Given the description of an element on the screen output the (x, y) to click on. 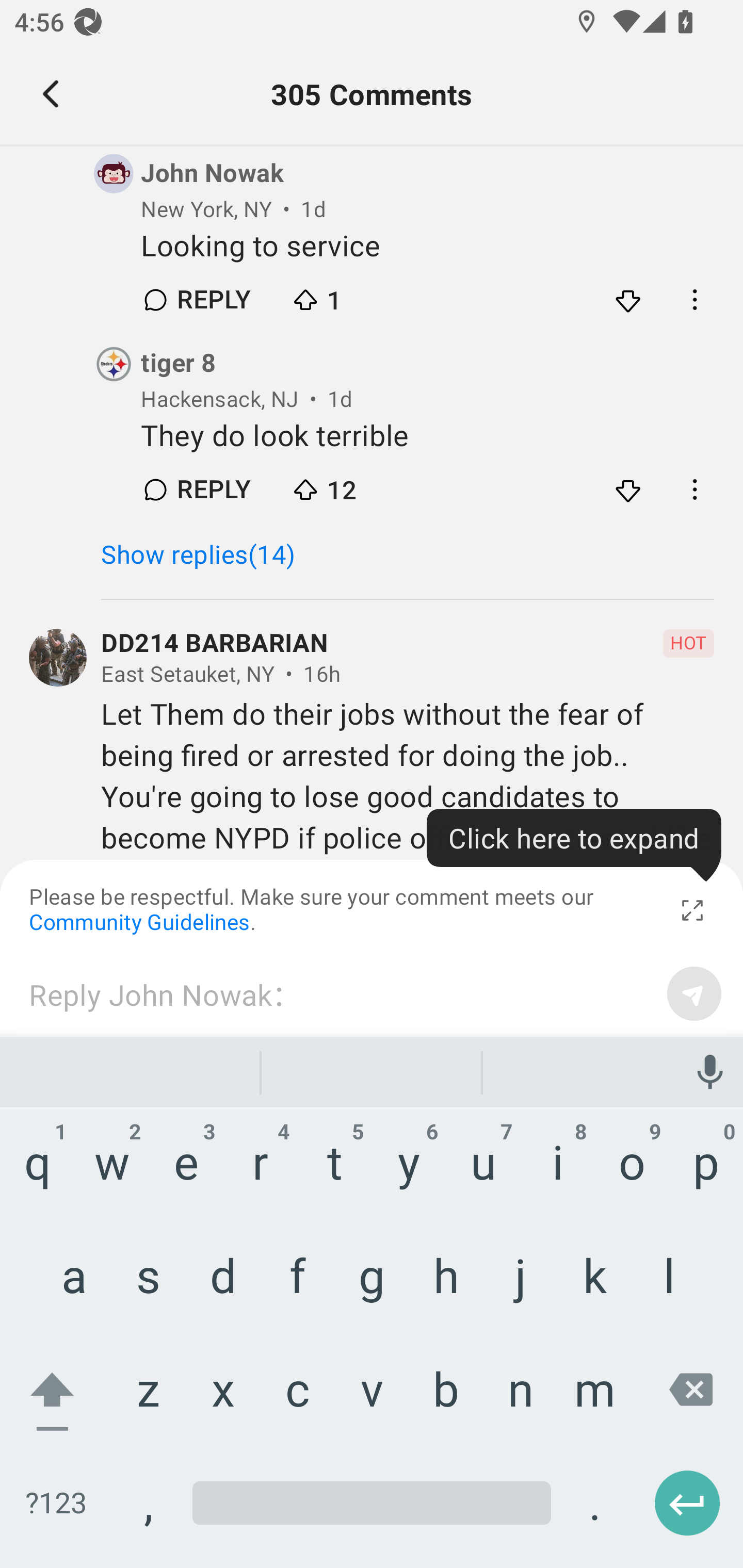
Reply John Nowak： (340, 992)
